Given the description of an element on the screen output the (x, y) to click on. 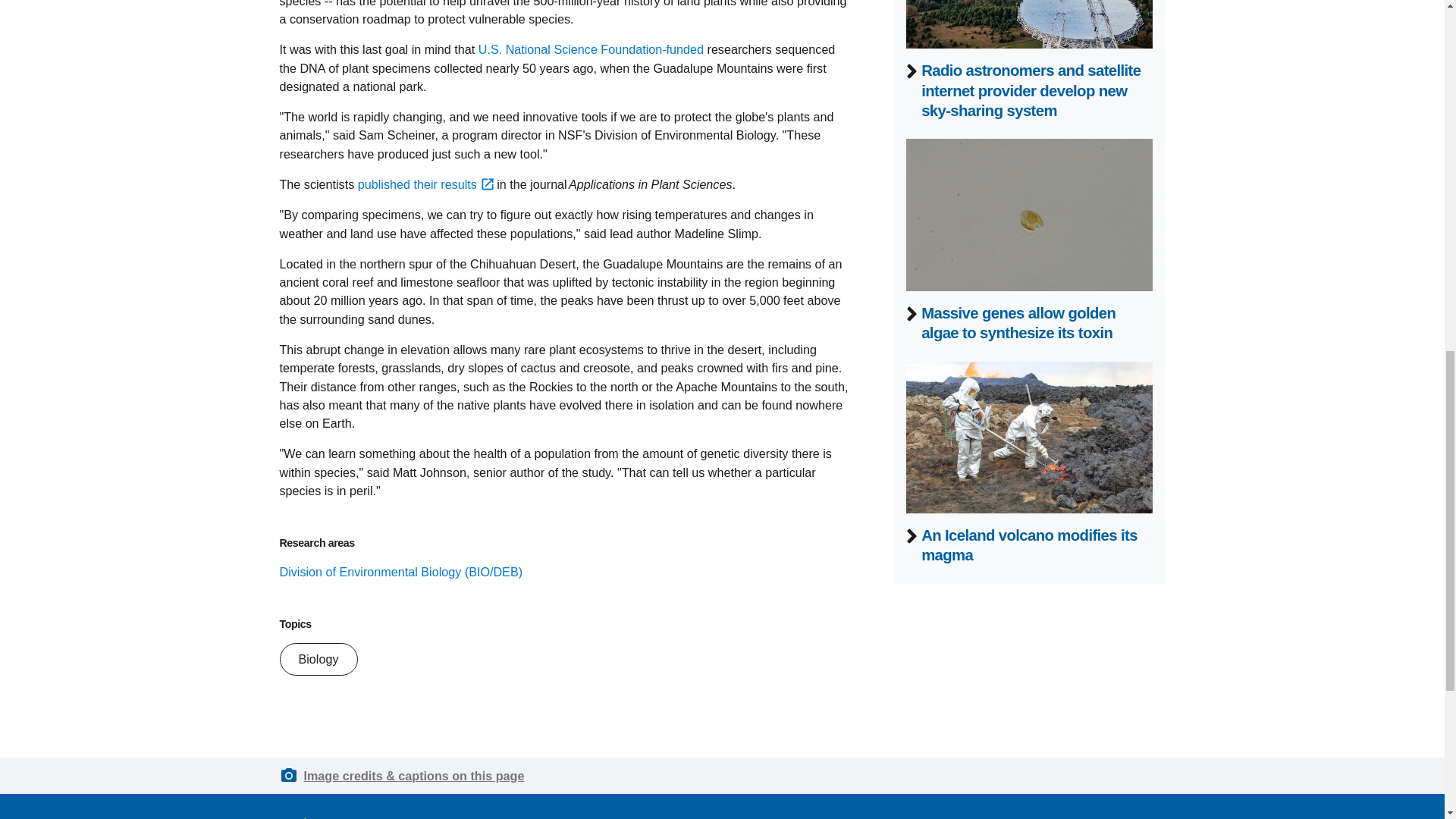
An Iceland volcano modifies its magma (1029, 545)
published their results (426, 183)
Massive genes allow golden algae to synthesize its toxin (1018, 322)
U.S. National Science Foundation-funded (591, 49)
